Given the description of an element on the screen output the (x, y) to click on. 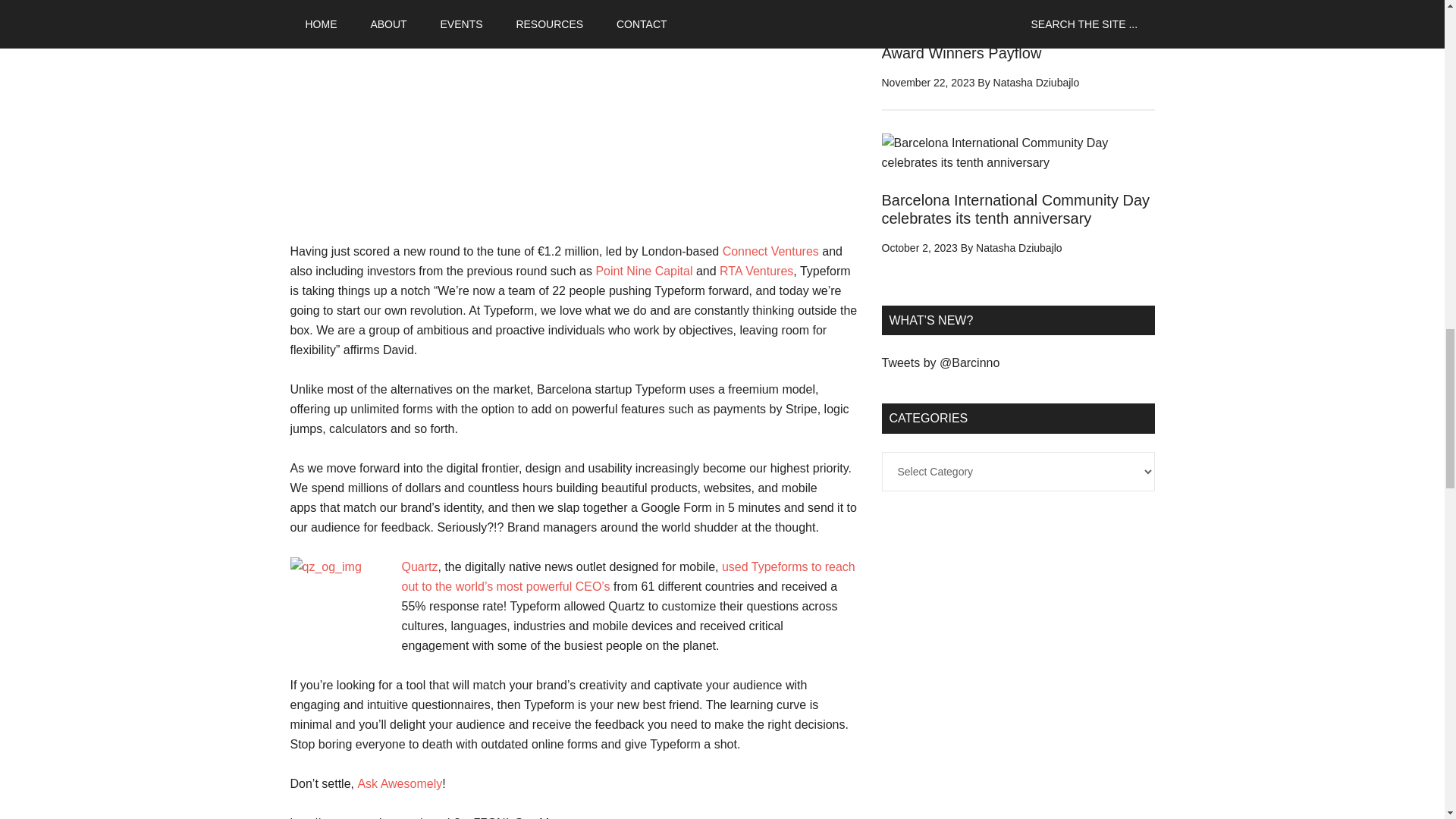
Quartz (419, 566)
RTA Ventures (756, 270)
Point Nine Capital (644, 270)
Connect Ventures (770, 250)
Ask Awesomely (399, 783)
